Given the description of an element on the screen output the (x, y) to click on. 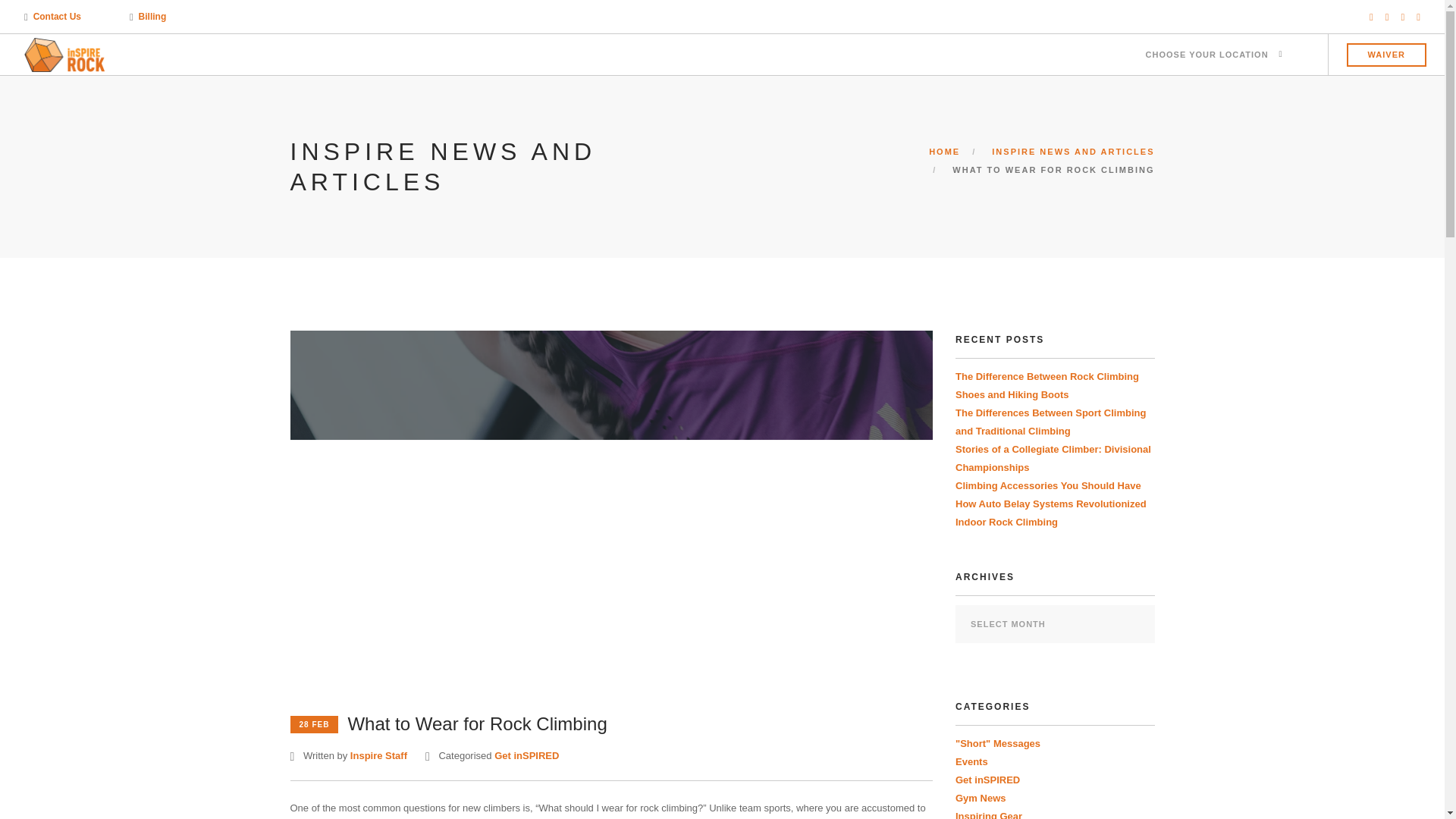
INSPIRE NEWS AND ARTICLES (1072, 151)
Get inSPIRED (527, 755)
How Auto Belay Systems Revolutionized Indoor Rock Climbing (1051, 512)
The Difference Between Rock Climbing Shoes and Hiking Boots (1046, 385)
Gym News (980, 797)
Contact Us (57, 16)
Get inSPIRED (987, 779)
Events (971, 761)
WAIVER (1386, 54)
